Given the description of an element on the screen output the (x, y) to click on. 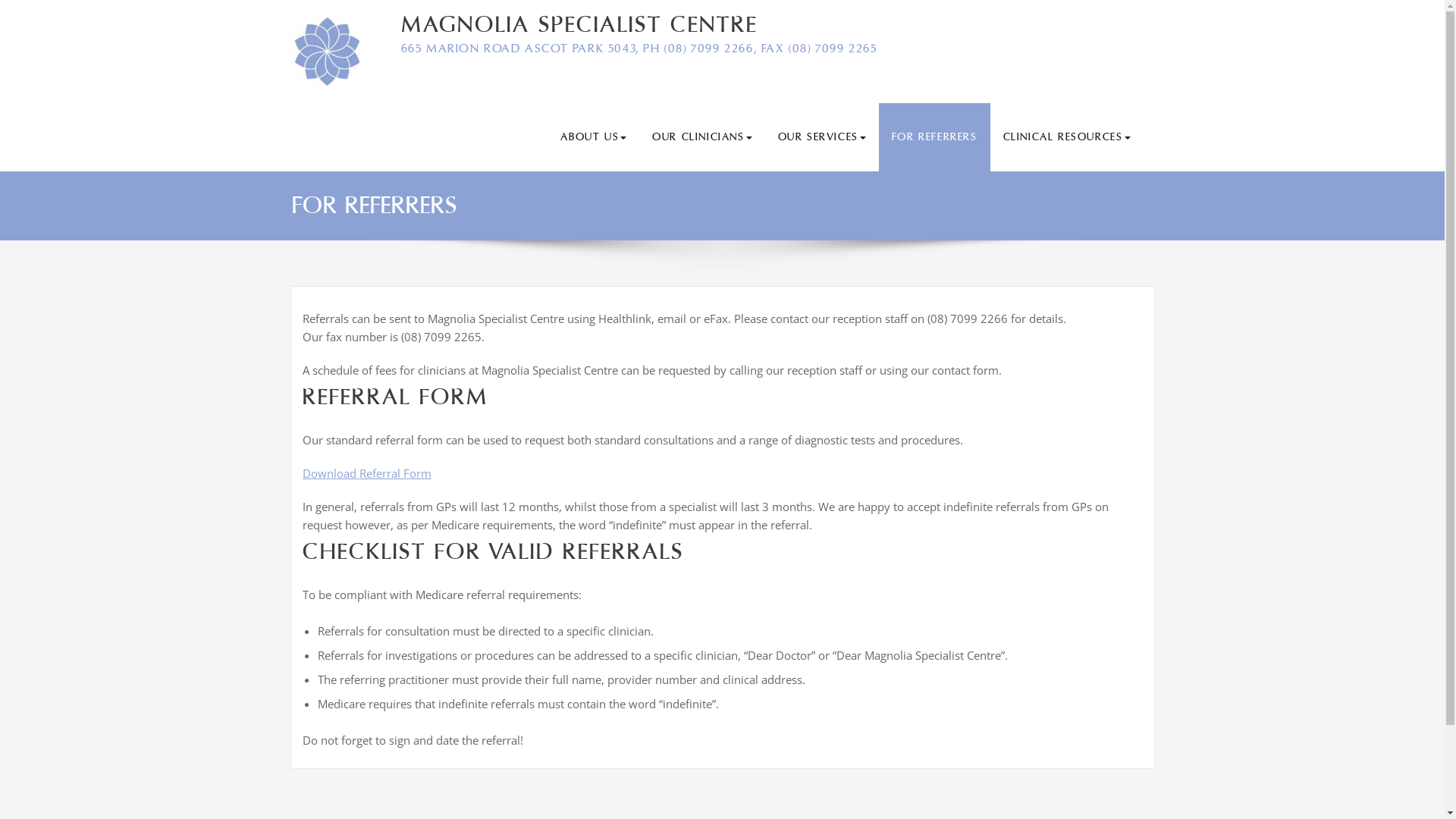
MAGNOLIA SPECIALIST CENTRE Element type: text (578, 24)
ABOUT US Element type: text (593, 137)
FOR REFERRERS Element type: text (934, 137)
OUR CLINICIANS Element type: text (701, 137)
OUR SERVICES Element type: text (821, 137)
CLINICAL RESOURCES Element type: text (1066, 137)
Download Referral Form Element type: text (365, 472)
